Given the description of an element on the screen output the (x, y) to click on. 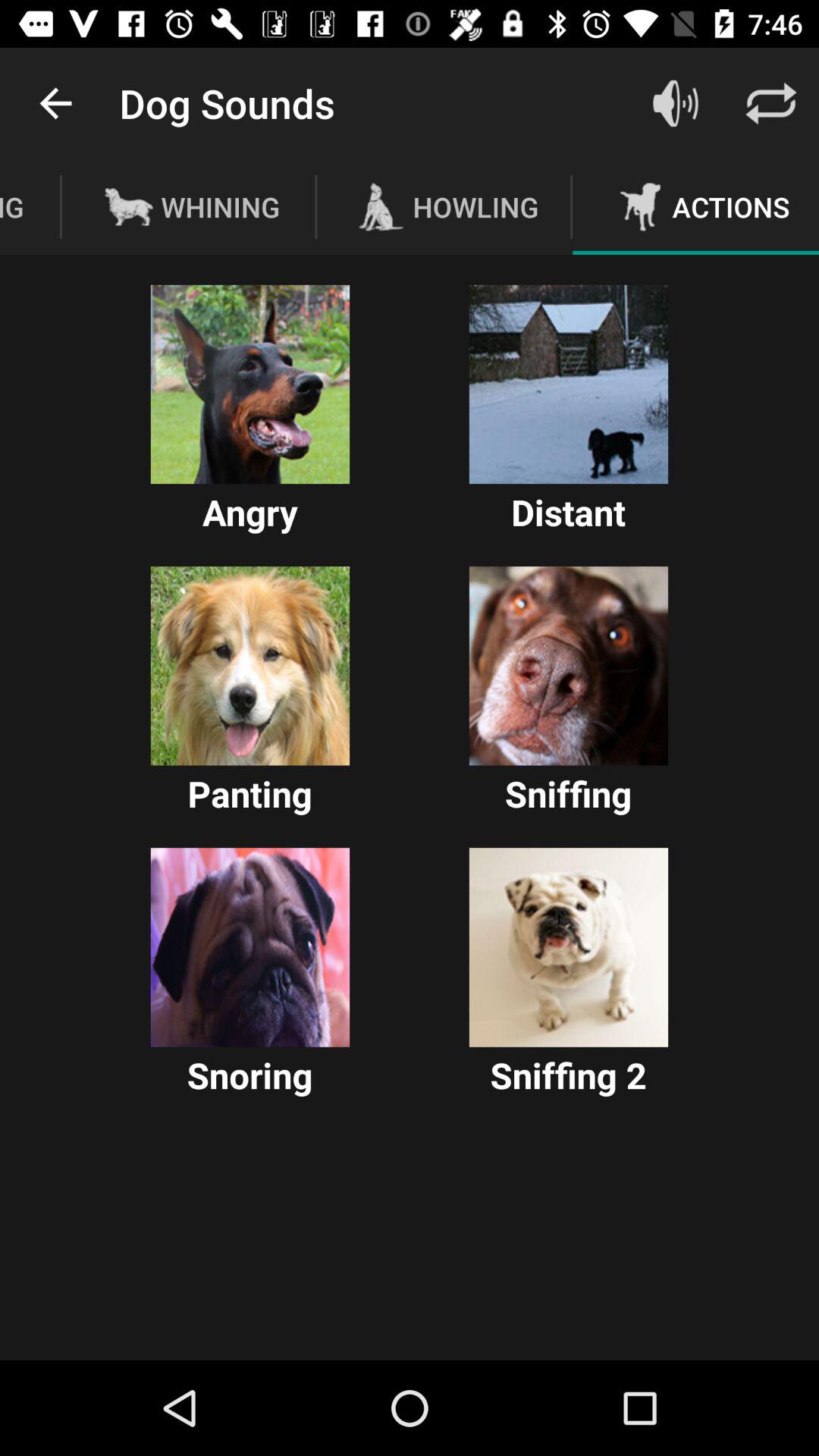
tap icon to the right of howling (675, 103)
